Given the description of an element on the screen output the (x, y) to click on. 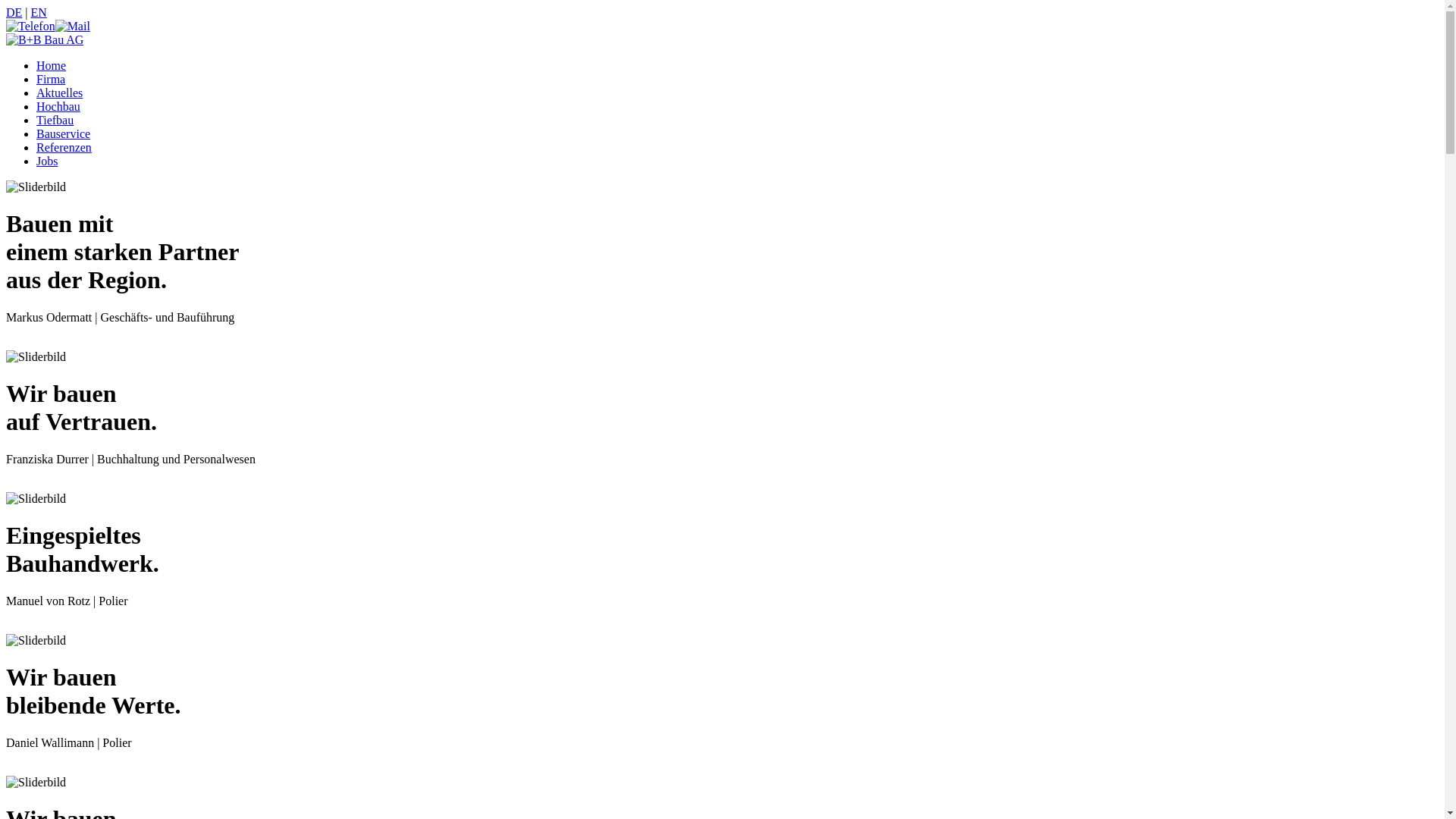
Tiefbau Element type: text (54, 119)
Firma Element type: text (50, 78)
Bauservice Element type: text (63, 133)
Referenzen Element type: text (63, 147)
Home Element type: text (50, 65)
Aktuelles Element type: text (59, 92)
Jobs Element type: text (46, 160)
DE Element type: text (13, 12)
Hochbau Element type: text (58, 106)
EN Element type: text (39, 12)
